Given the description of an element on the screen output the (x, y) to click on. 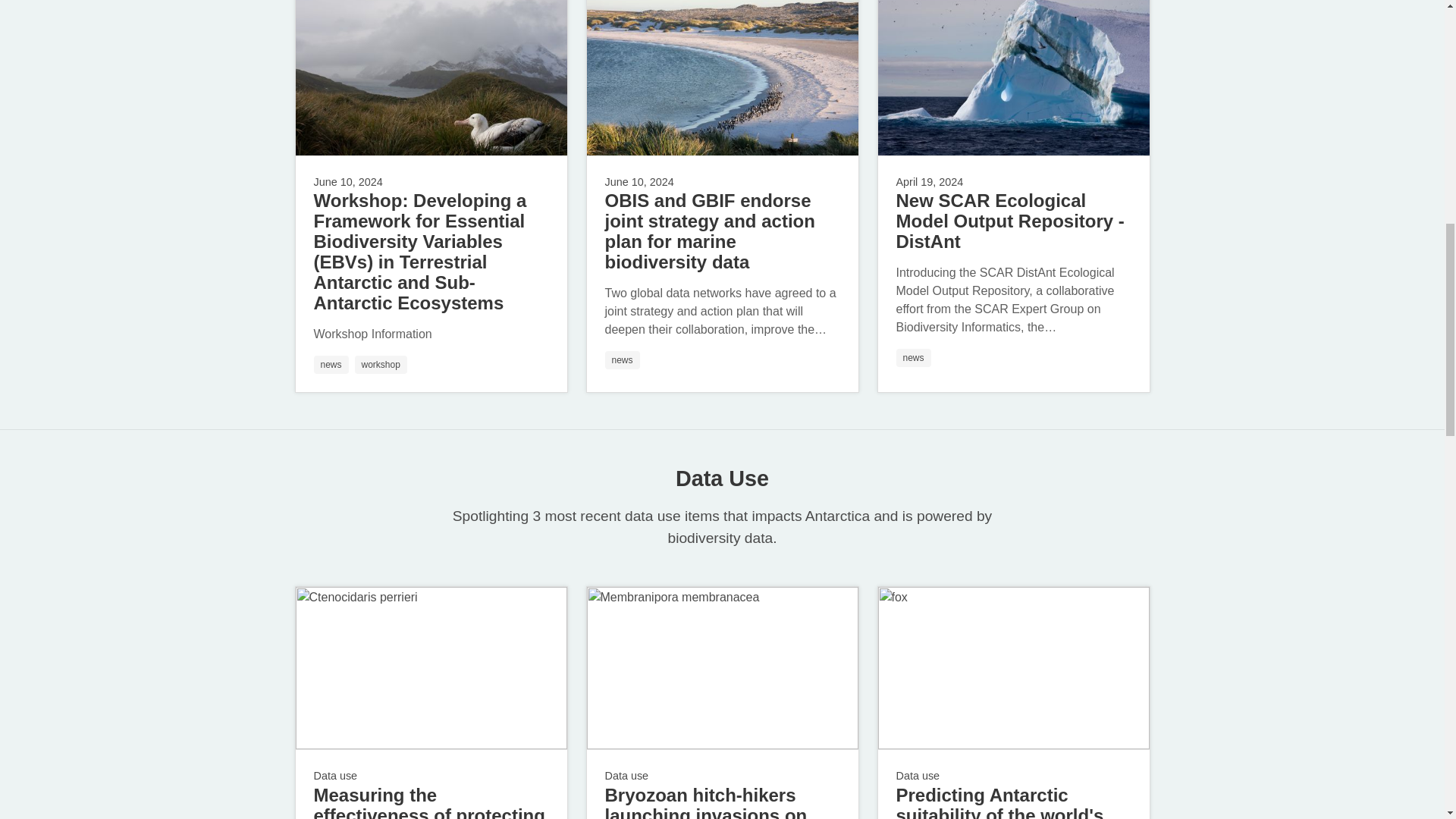
Ctenocidaris perrieri (431, 668)
news (331, 364)
fox (1013, 668)
news (622, 360)
Membranipora membranacea (722, 668)
workshop (381, 364)
